Given the description of an element on the screen output the (x, y) to click on. 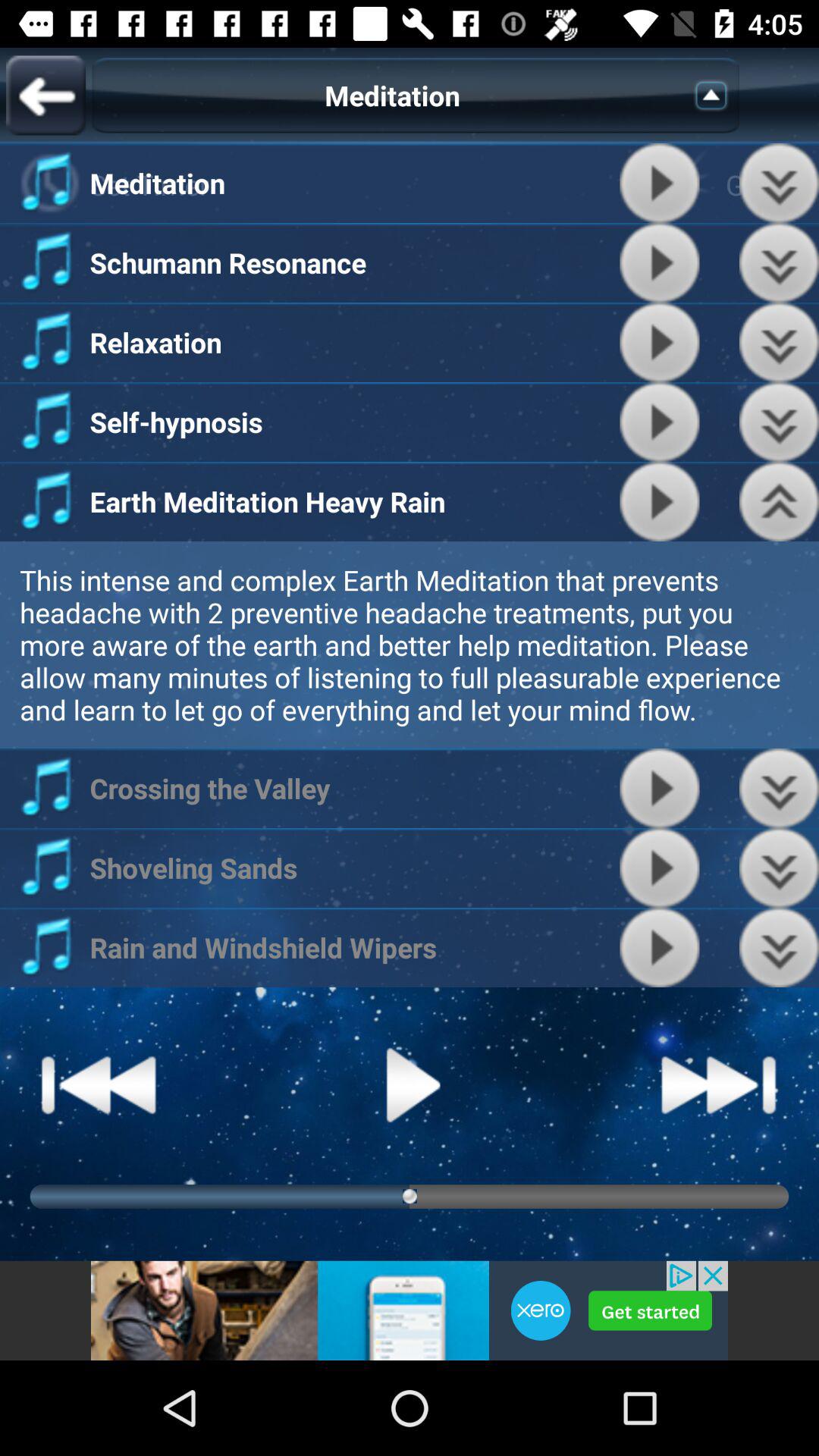
go to pause (659, 262)
